Given the description of an element on the screen output the (x, y) to click on. 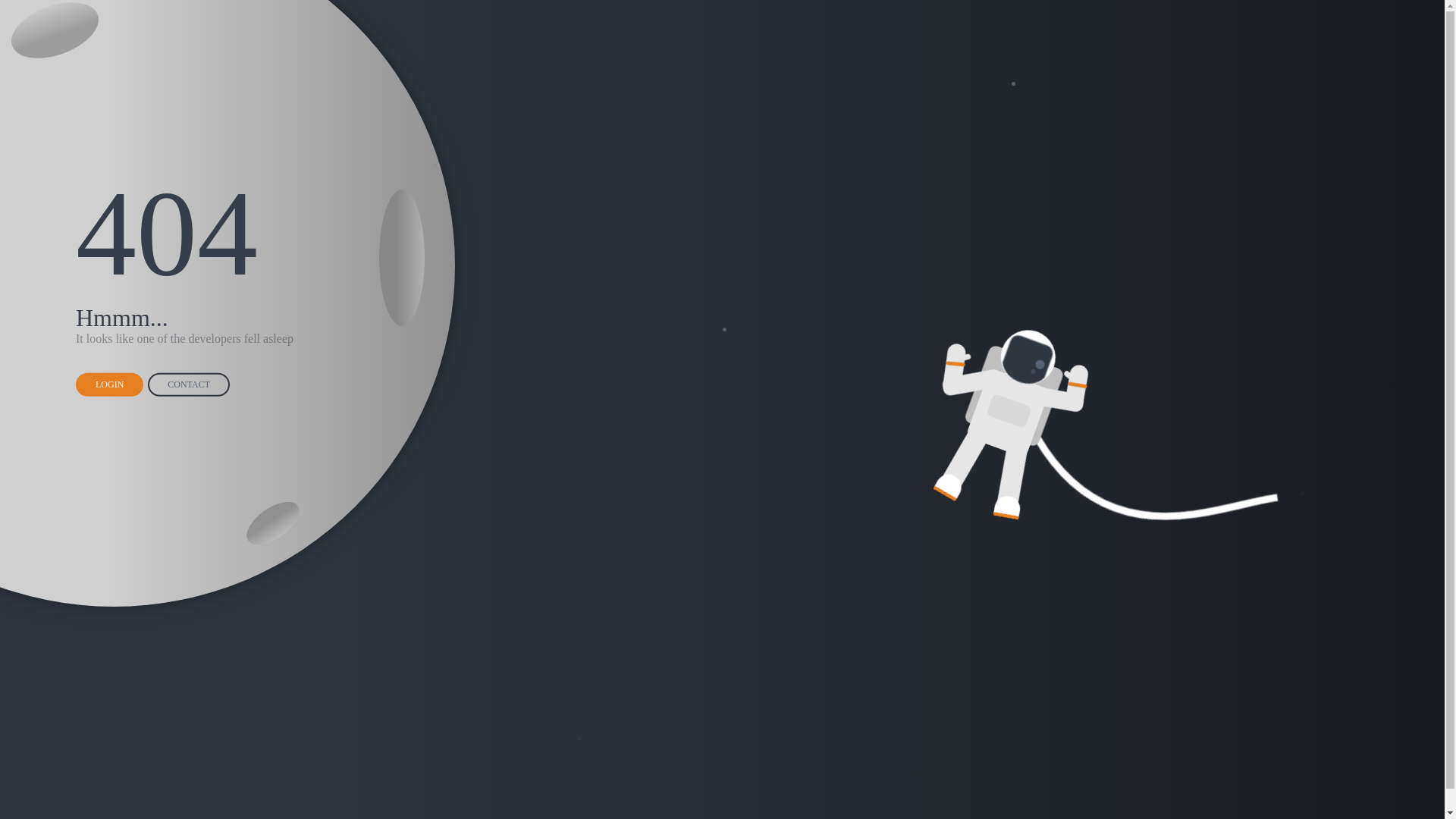
LOGIN Element type: text (109, 384)
CONTACT Element type: text (188, 384)
